Given the description of an element on the screen output the (x, y) to click on. 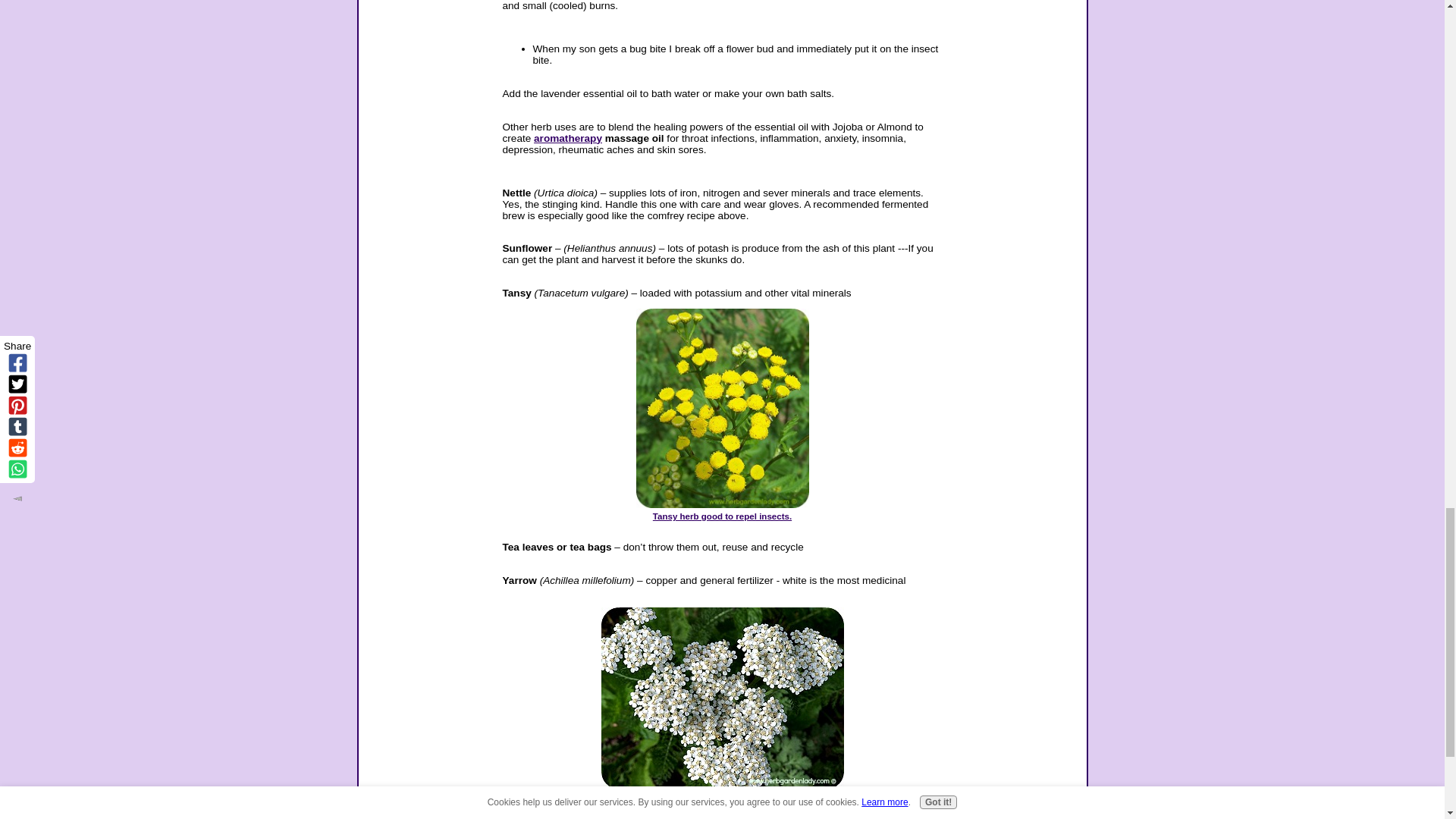
Tansy herb good to repel insects. (722, 510)
White yarrow the most medicinal of the yarrows. (721, 698)
aromatherapy (568, 137)
Tansy herb good to repel insects (722, 510)
White yarrow the most medicinal of the yarrows. (722, 792)
White yarrow the most medicinal of the yarrows. (722, 792)
Tansy herb good to repel insects (721, 407)
